Given the description of an element on the screen output the (x, y) to click on. 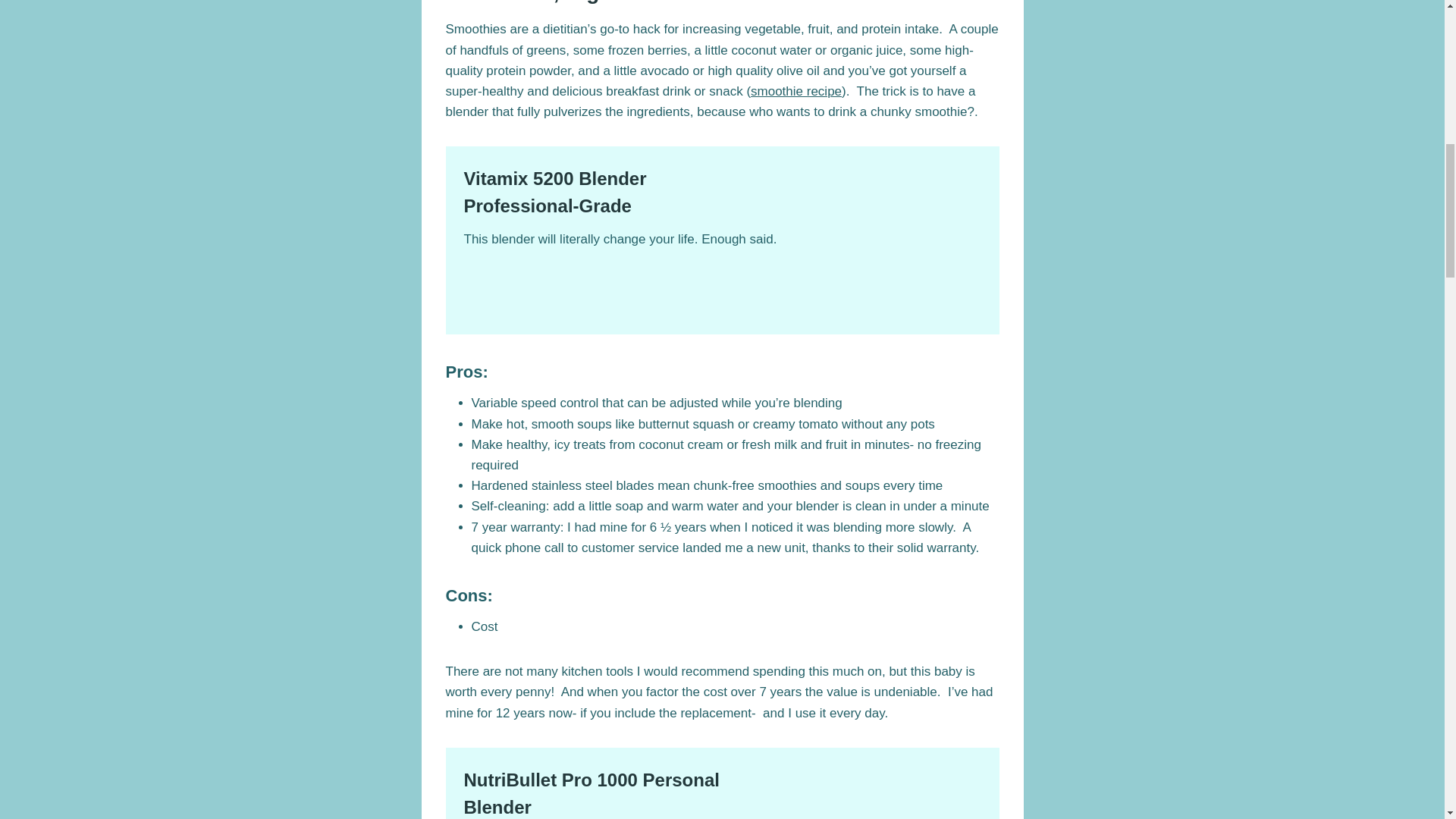
smoothie recipe (796, 91)
